Given the description of an element on the screen output the (x, y) to click on. 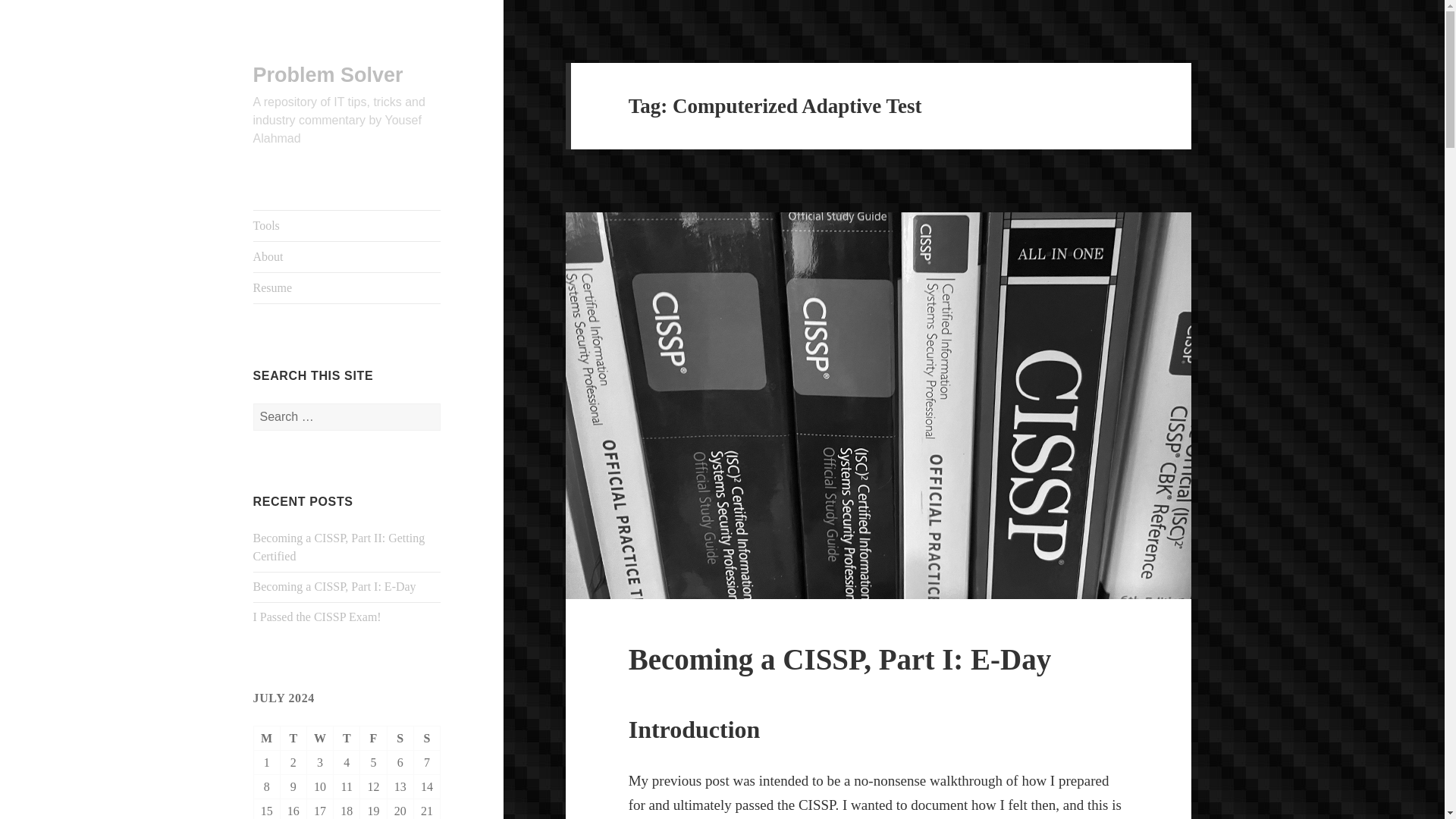
Becoming a CISSP, Part I: E-Day (839, 658)
Thursday (346, 738)
Saturday (400, 738)
Resume (347, 287)
Becoming a CISSP, Part II: Getting Certified (339, 546)
Problem Solver (328, 74)
About (347, 256)
Wednesday (320, 738)
Becoming a CISSP, Part I: E-Day (334, 585)
Friday (373, 738)
I Passed the CISSP Exam! (317, 616)
Tuesday (294, 738)
Tools (347, 225)
